Given the description of an element on the screen output the (x, y) to click on. 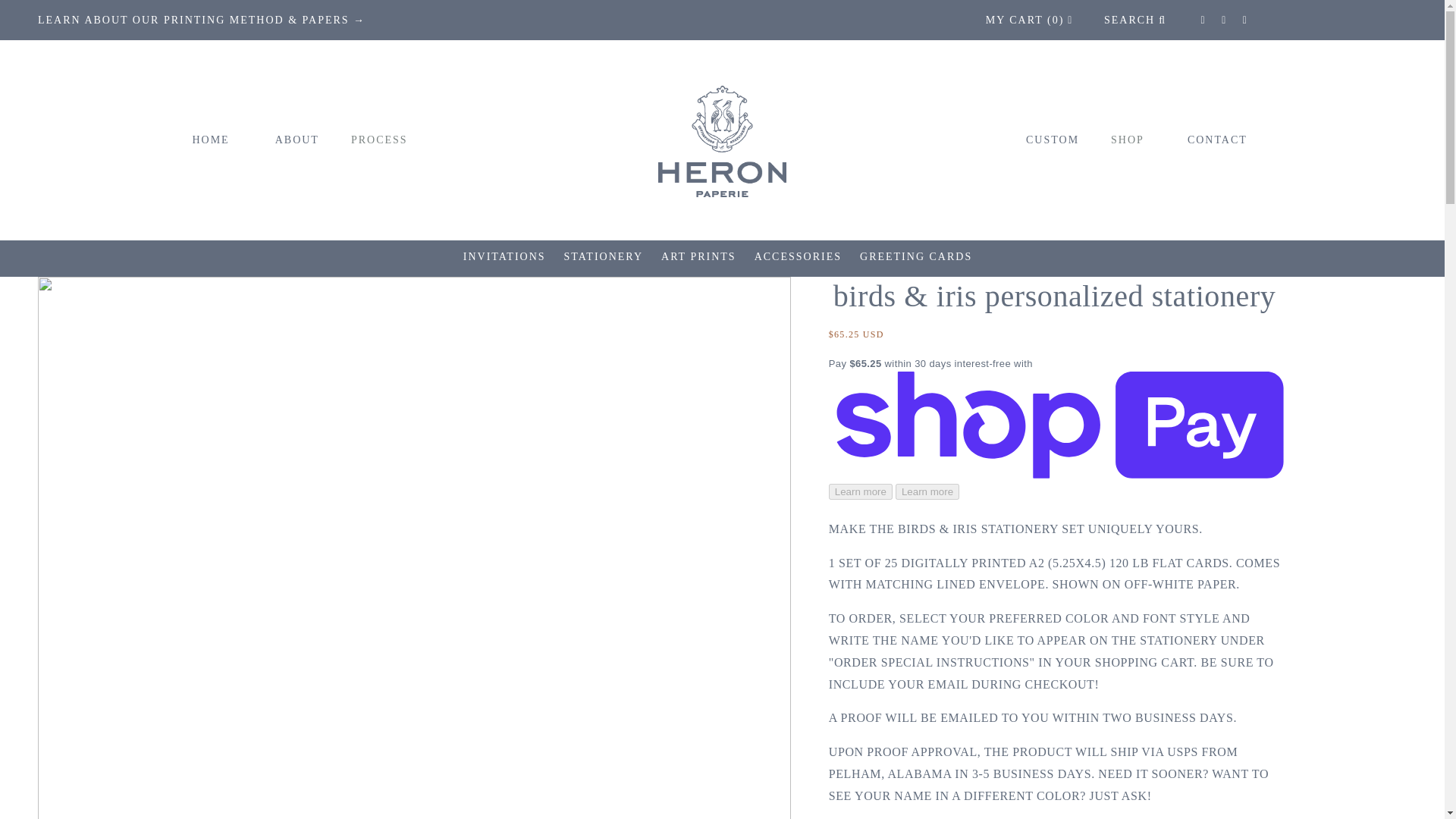
HOME (209, 140)
SKIP TO CONTENT (45, 16)
CUSTOM (1052, 140)
CONTACT (1216, 140)
ABOUT (296, 140)
SEARCH (1134, 19)
